Given the description of an element on the screen output the (x, y) to click on. 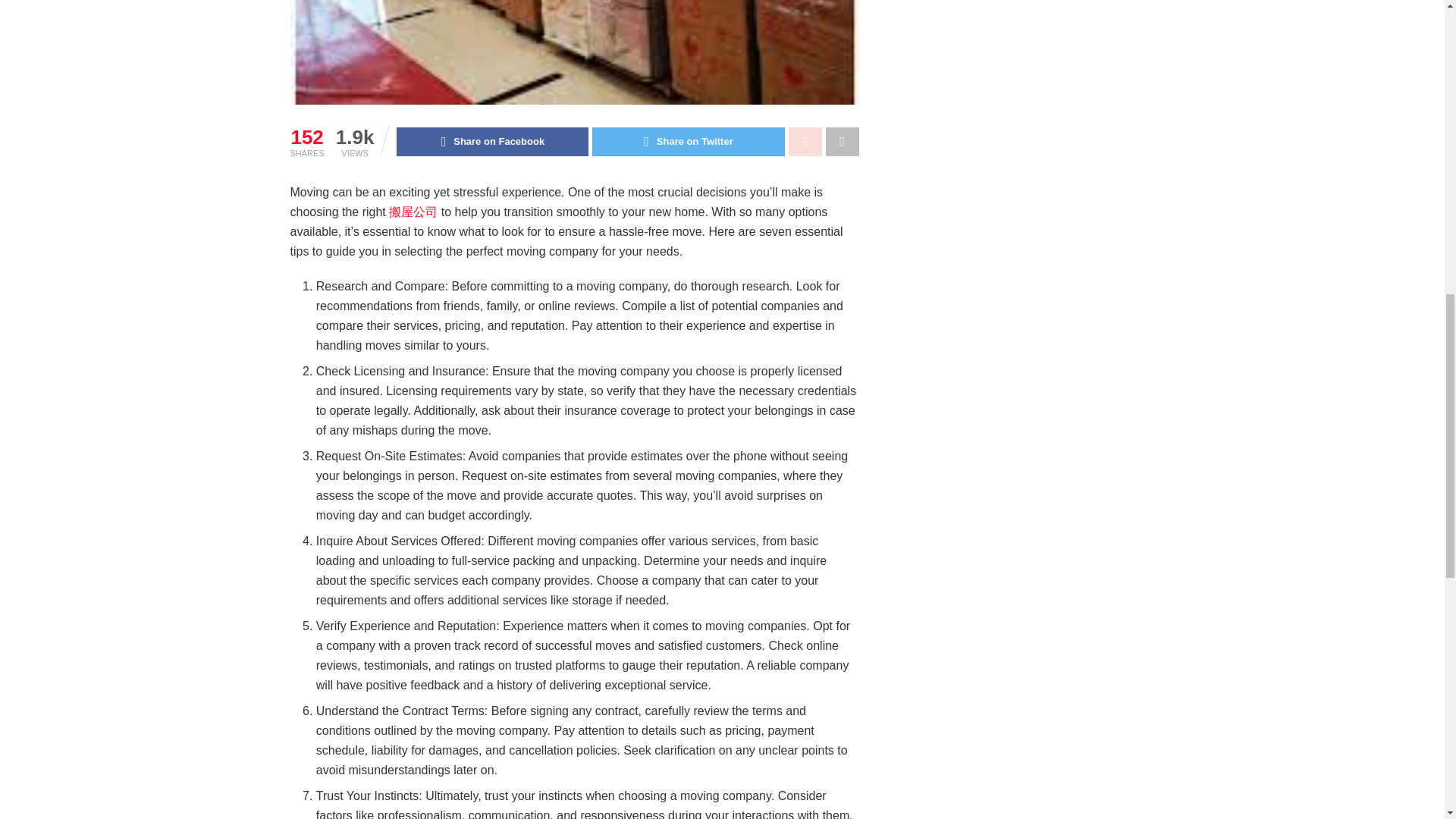
Share on Facebook (492, 141)
